Given the description of an element on the screen output the (x, y) to click on. 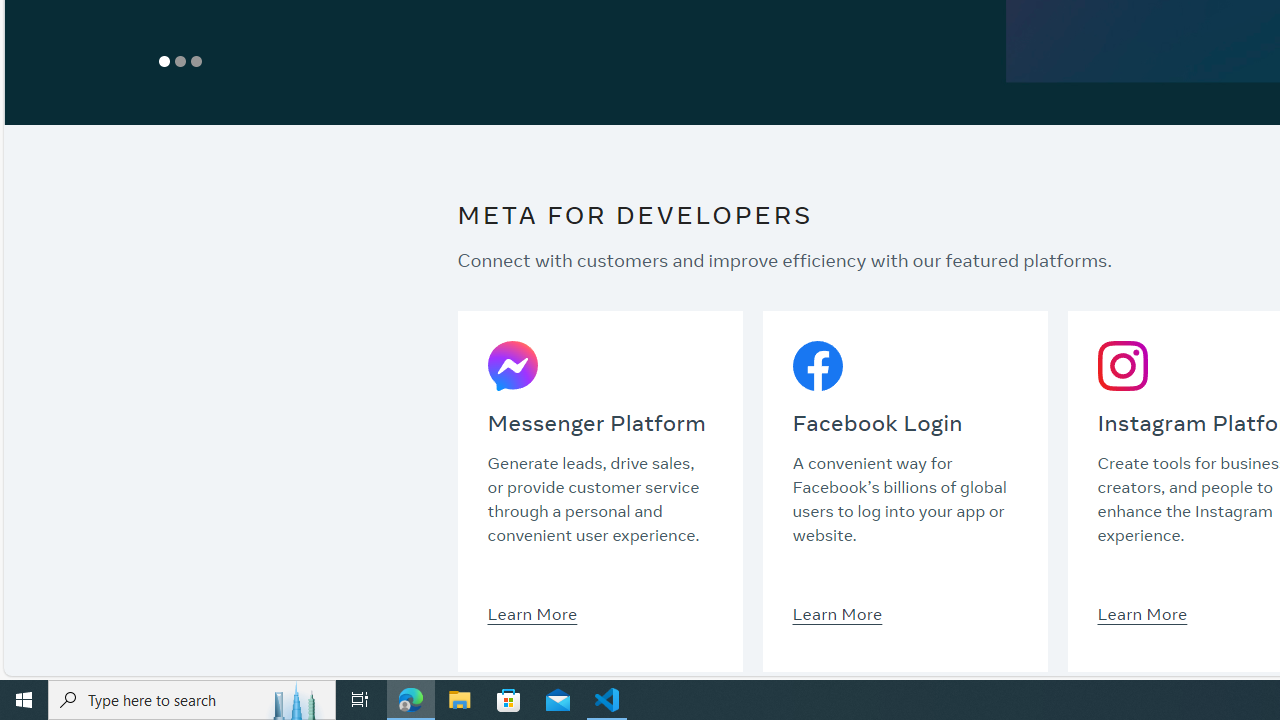
Show Slide 2 (180, 61)
Learn More (1141, 613)
Show Slide 3 (196, 61)
Show Slide 1 (164, 61)
